Given the description of an element on the screen output the (x, y) to click on. 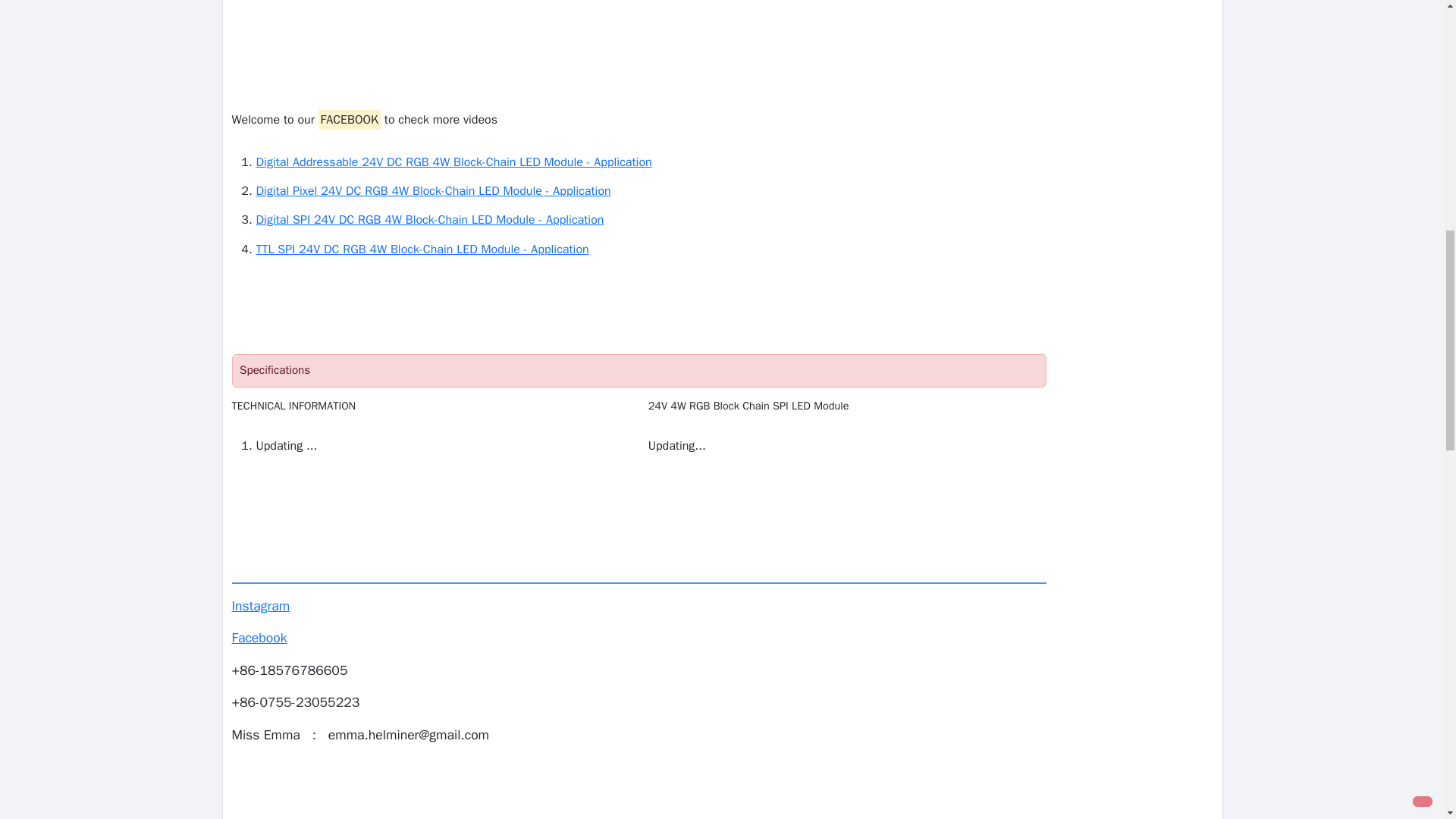
Instagram (260, 605)
Helminer LED Instagram  (260, 605)
Helminer LED Facebook  (258, 637)
TTL SPI 24V DC RGB 4W Block-Chain LED Module - Application (651, 249)
Facebook (258, 637)
